Given the description of an element on the screen output the (x, y) to click on. 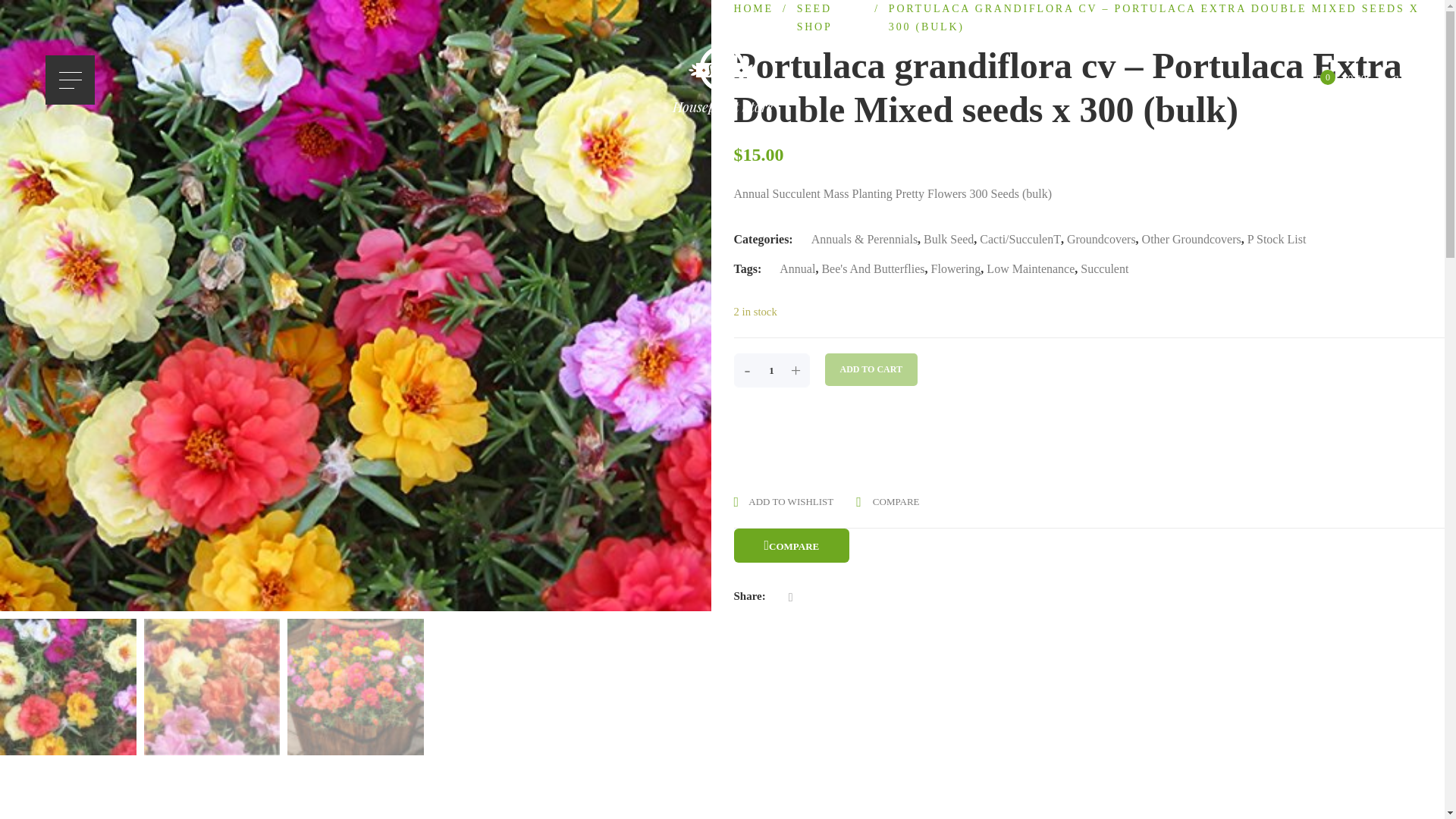
Flowering (956, 268)
Bee'S And Butterflies (872, 268)
ADD TO CART (871, 368)
Bulk Seed (948, 238)
COMPARE (887, 500)
1 (771, 369)
COMPARE (791, 545)
HOME (753, 8)
Qty (771, 369)
ADD TO WISHLIST (783, 501)
Other Groundcovers (1191, 238)
Succulent (1104, 268)
Groundcovers (1101, 238)
Low Maintenance (1030, 268)
Annual (796, 268)
